Given the description of an element on the screen output the (x, y) to click on. 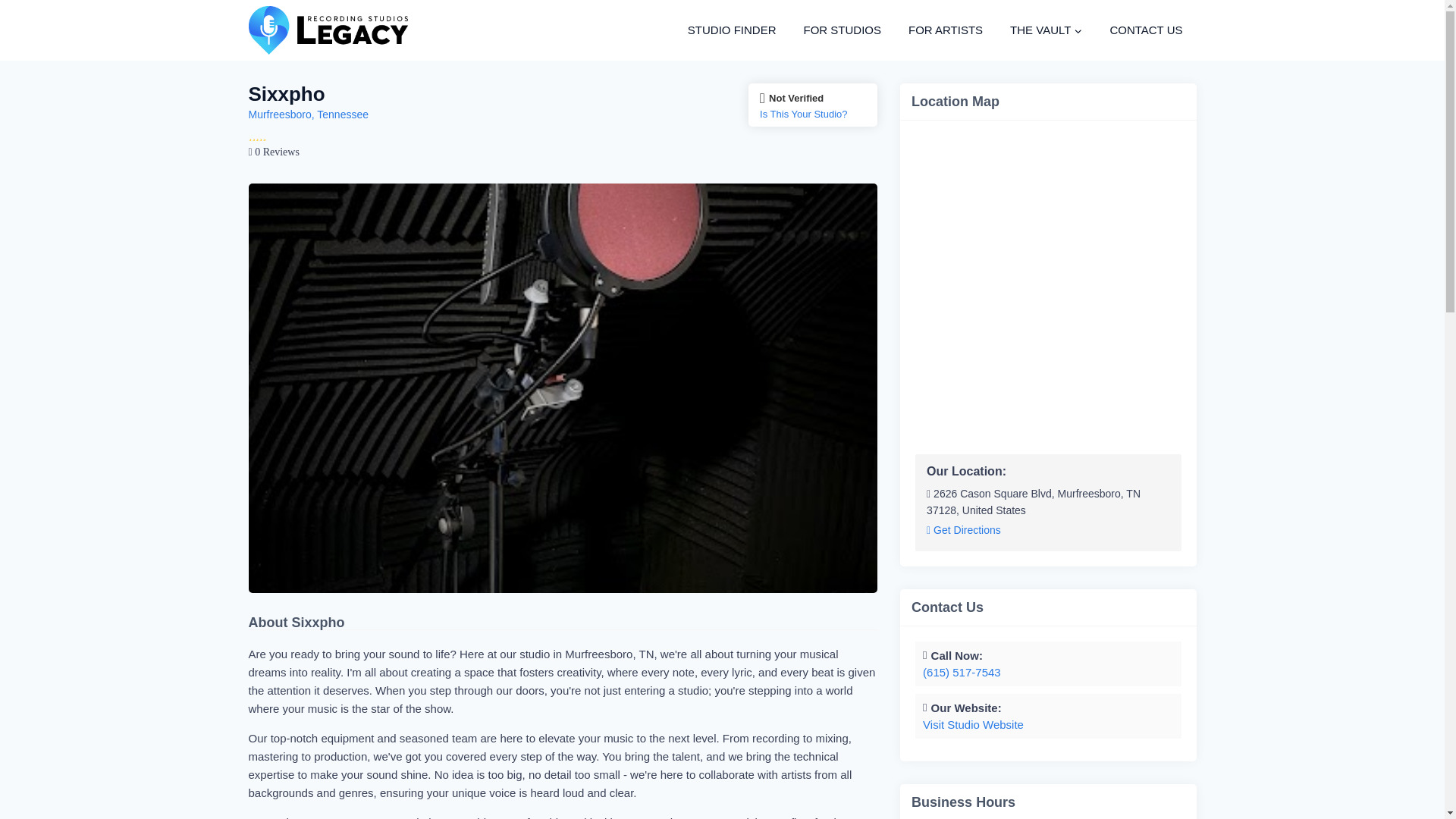
Get Directions (963, 530)
CONTACT US (1145, 29)
Tennessee (342, 114)
THE VAULT (1045, 29)
Visit Studio Website (973, 724)
FOR ARTISTS (945, 29)
Is This Your Studio? (813, 113)
Murfreesboro (279, 114)
FOR STUDIOS (842, 29)
STUDIO FINDER (732, 29)
